Given the description of an element on the screen output the (x, y) to click on. 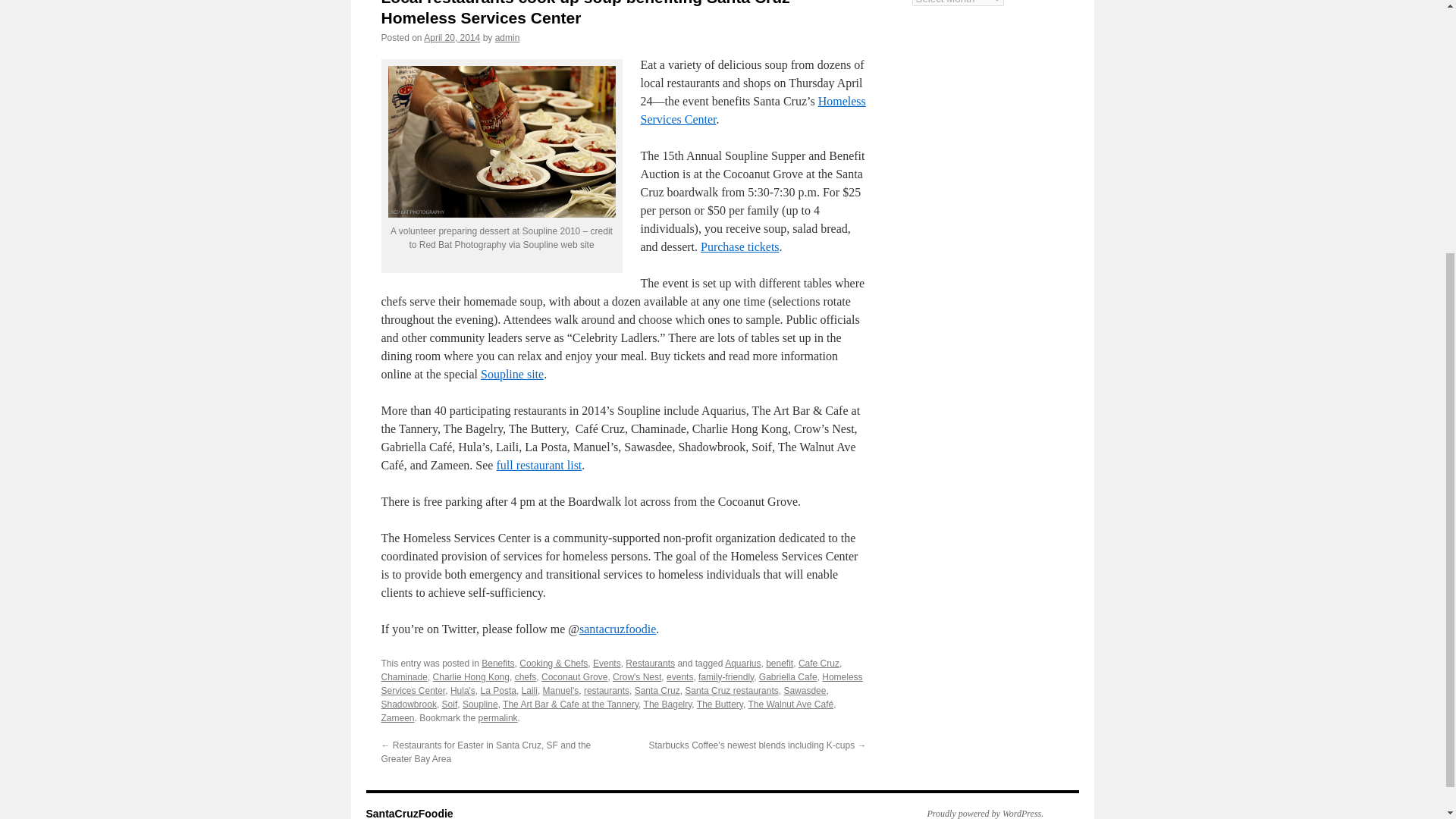
Homeless Services Center (620, 683)
Santa Cruz (656, 690)
Shadowbrook (407, 704)
Cafe Cruz (818, 663)
family-friendly (726, 676)
Homeless Services Center (752, 110)
Gabriella Cafe (787, 676)
admin (507, 37)
Soupline site (511, 373)
Events (606, 663)
View all posts by admin (507, 37)
restaurants (605, 690)
Chaminade (403, 676)
Aquarius (742, 663)
events (679, 676)
